Given the description of an element on the screen output the (x, y) to click on. 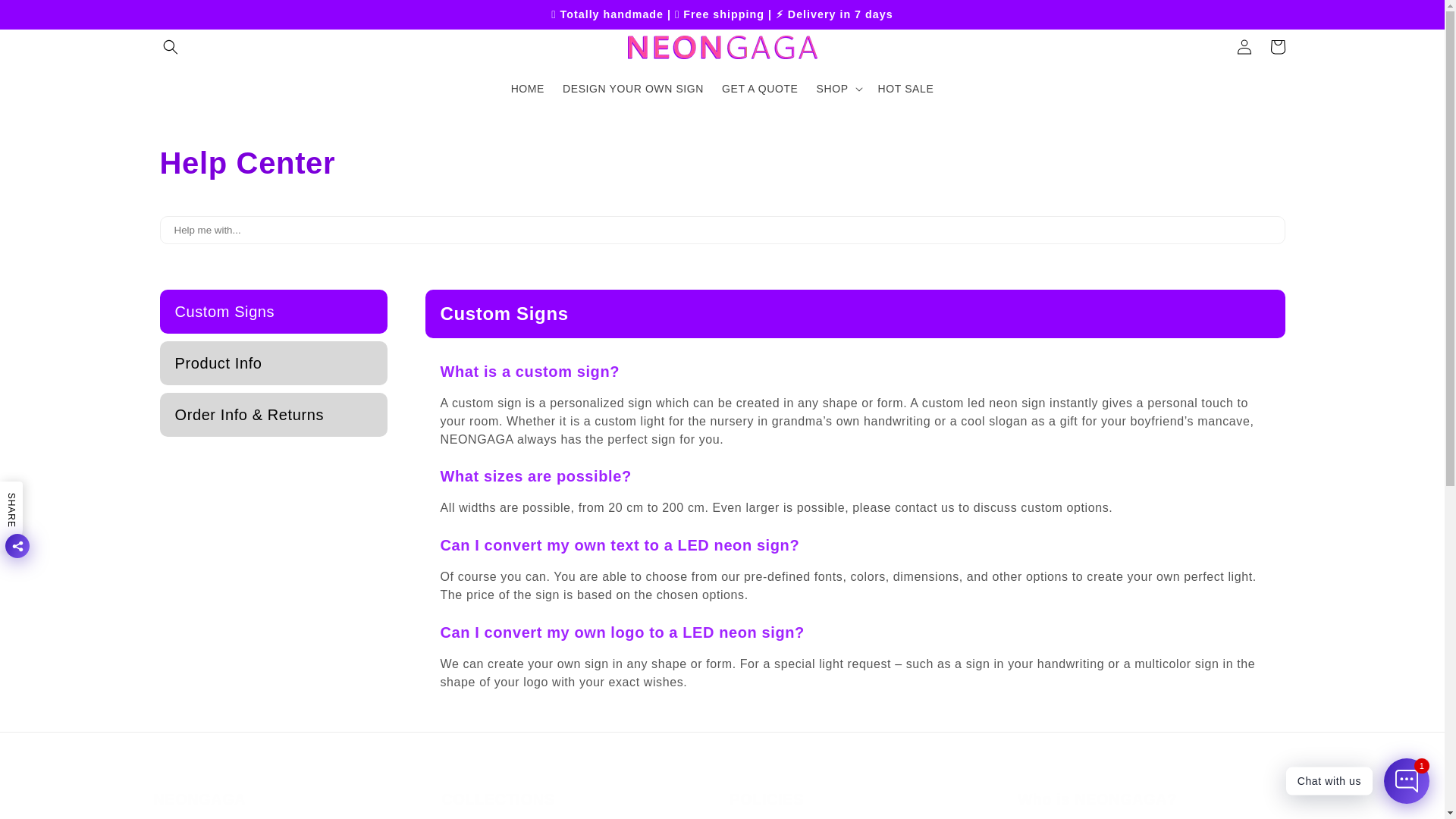
Skip to content (45, 17)
HOME (527, 88)
DESIGN YOUR OWN SIGN (633, 88)
GET A QUOTE (759, 88)
